Given the description of an element on the screen output the (x, y) to click on. 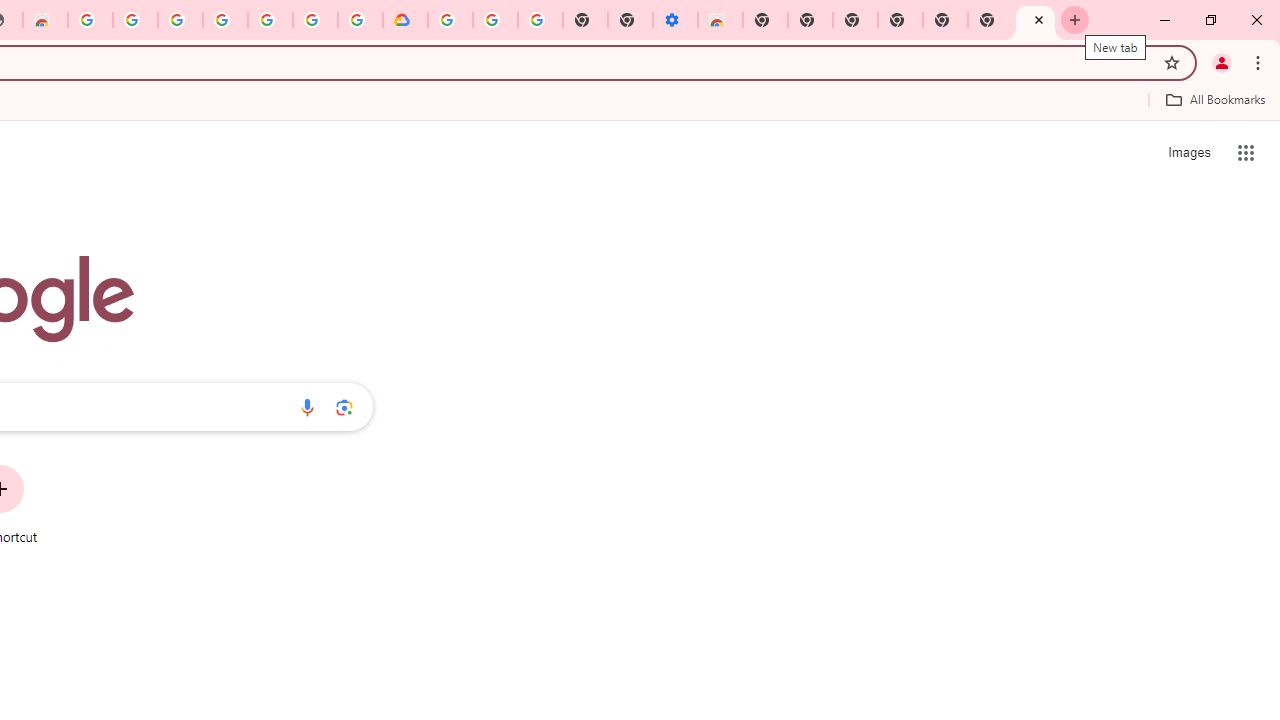
Settings - Accessibility (674, 20)
Chrome Web Store - Household (45, 20)
New Tab (765, 20)
Sign in - Google Accounts (315, 20)
Chrome Web Store - Accessibility extensions (720, 20)
New Tab (1035, 20)
Google Account Help (495, 20)
